Given the description of an element on the screen output the (x, y) to click on. 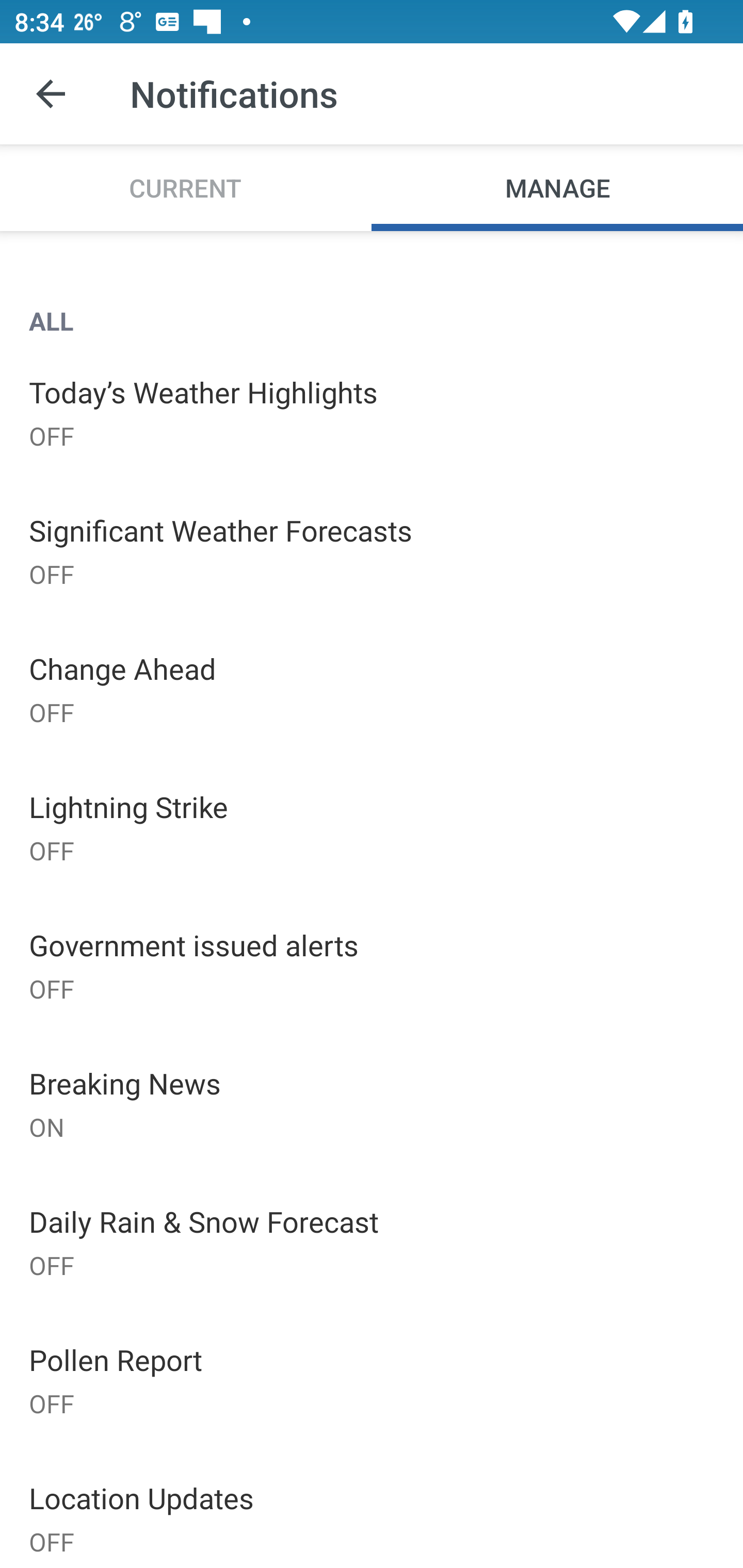
Navigate up (50, 93)
Current Tab CURRENT (185, 187)
Today’s Weather Highlights OFF (371, 412)
Significant Weather Forecasts OFF (371, 550)
Change Ahead OFF (371, 688)
Lightning Strike OFF (371, 827)
Government issued alerts OFF (371, 965)
Breaking News ON (371, 1103)
Daily Rain & Snow Forecast OFF (371, 1241)
Pollen Report OFF (371, 1379)
Location Updates OFF (371, 1508)
